Given the description of an element on the screen output the (x, y) to click on. 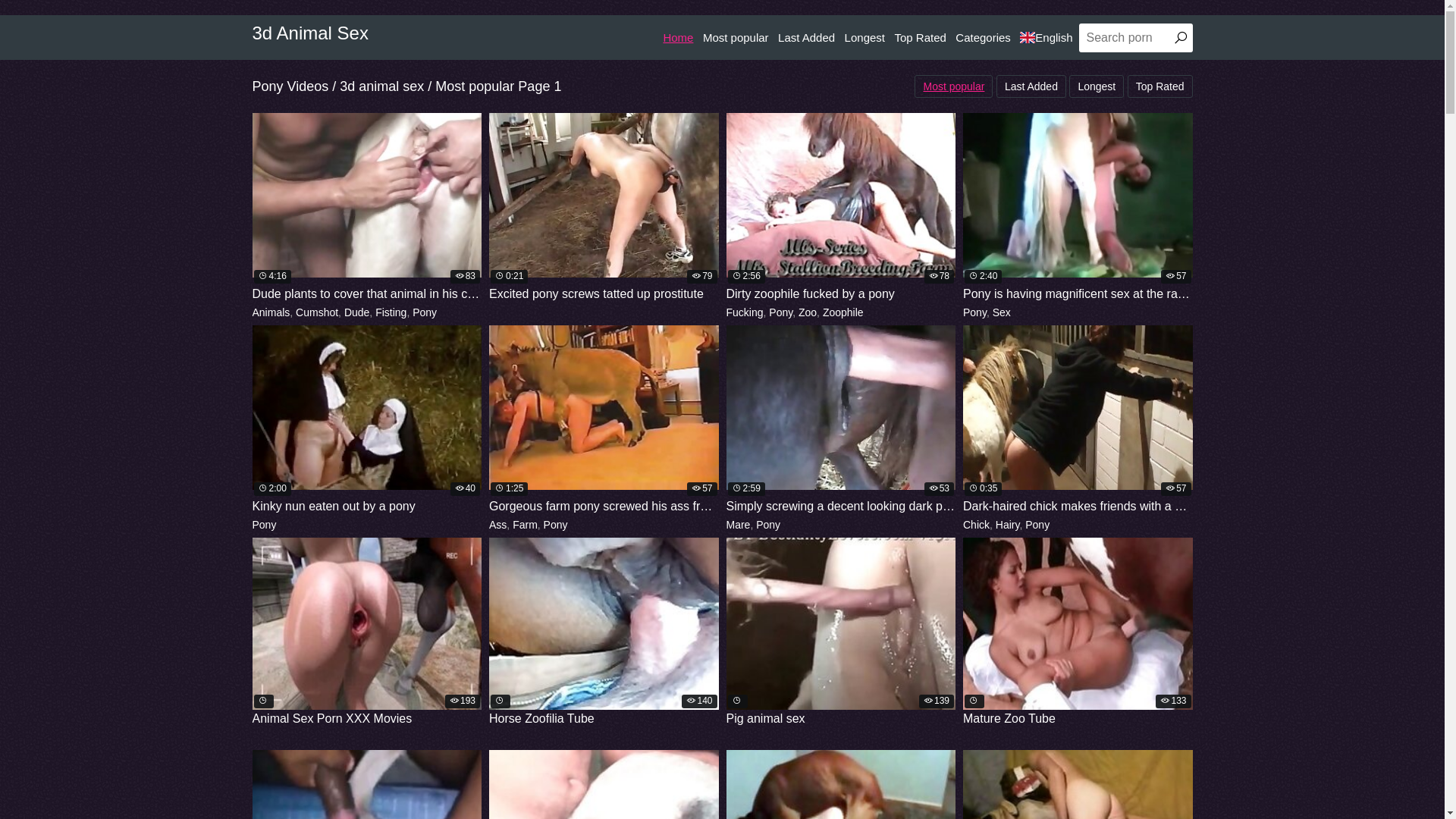
Fisting Element type: text (390, 312)
Top Rated Element type: text (919, 37)
Pony Element type: text (974, 312)
Farm Element type: text (524, 524)
2:56
78
Dirty zoophile fucked by a pony Element type: text (841, 207)
Pony Element type: text (424, 312)
Zoo Element type: text (807, 312)
3d Animal Sex Element type: text (309, 32)
Zoophile Element type: text (842, 312)
2:40
57
Pony is having magnificent sex at the ranch Element type: text (1077, 207)
Top Rated Element type: text (1159, 86)
Fucking Element type: text (744, 312)
Last Added Element type: text (806, 37)
2:00
40
Kinky nun eaten out by a pony Element type: text (366, 420)
1:25
57
Gorgeous farm pony screwed his ass from behind on Element type: text (603, 420)
140
Horse Zoofilia Tube Element type: text (603, 632)
4:16
83
Dude plants to cover that animal in his cum Element type: text (366, 207)
Hairy Element type: text (1007, 524)
0:21
79
Excited pony screws tatted up prostitute Element type: text (603, 207)
Pony Element type: text (1037, 524)
Last Added Element type: text (1031, 86)
Longest Element type: text (1096, 86)
193
Animal Sex Porn XXX Movies Element type: text (366, 632)
0:35
57
Dark-haired chick makes friends with a pony Element type: text (1077, 420)
2:59
53
Simply screwing a decent looking dark pony Element type: text (841, 420)
Ass Element type: text (497, 524)
Animals Element type: text (270, 312)
Longest Element type: text (864, 37)
Mare Element type: text (738, 524)
Pony Element type: text (555, 524)
Pony Element type: text (263, 524)
Most popular Element type: text (953, 86)
Dude Element type: text (356, 312)
Chick Element type: text (976, 524)
Home Element type: text (677, 37)
English Element type: text (1045, 37)
Categories Element type: text (982, 37)
139
Pig animal sex Element type: text (841, 632)
Pony Element type: text (768, 524)
Sex Element type: text (1001, 312)
Most popular Element type: text (735, 37)
Pony Element type: text (780, 312)
133
Mature Zoo Tube Element type: text (1077, 632)
Cumshot Element type: text (316, 312)
